Given the description of an element on the screen output the (x, y) to click on. 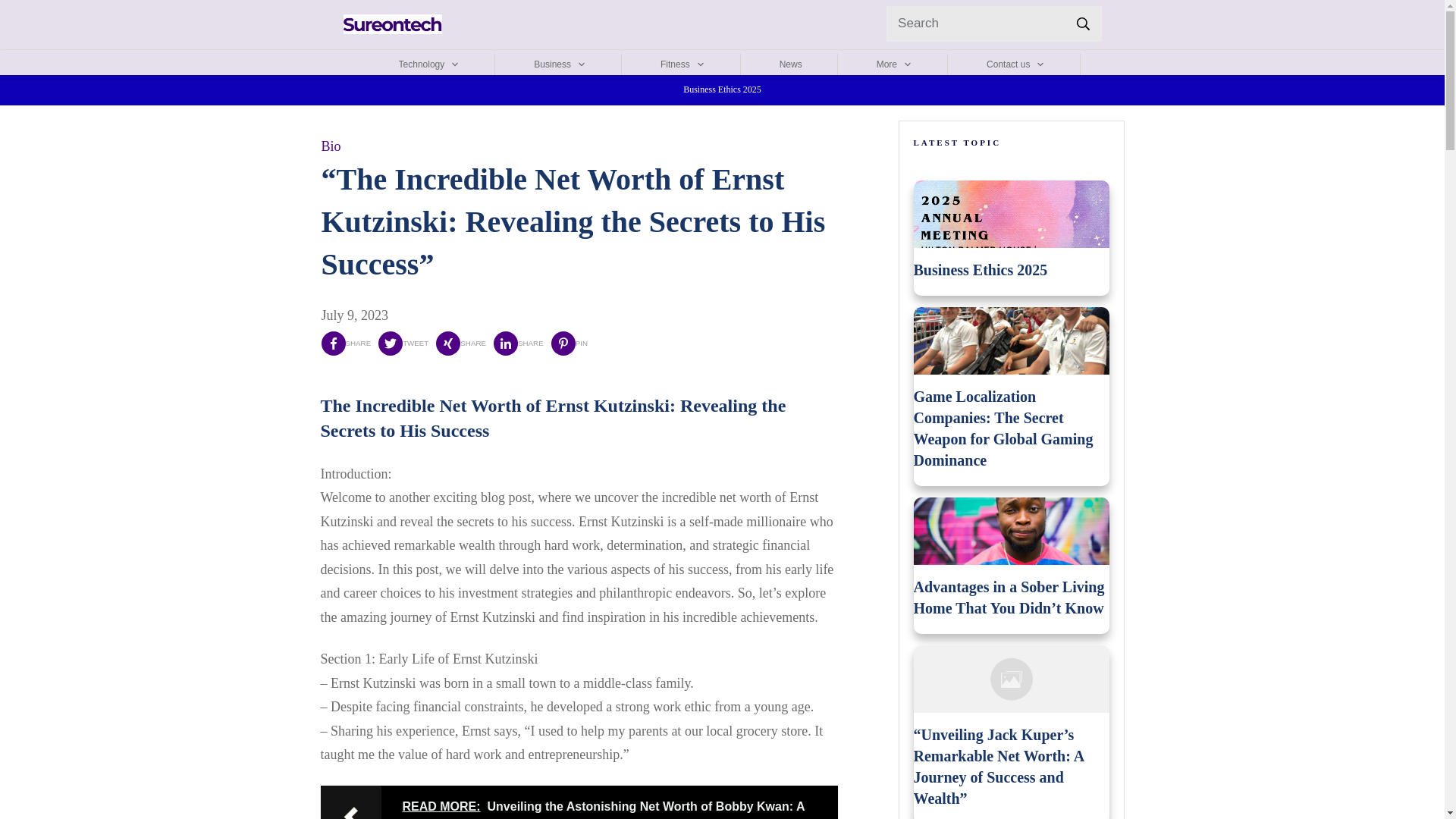
Technology (429, 64)
Bio (330, 145)
Business Ethics 2025 (721, 89)
Business Ethics 2025 (979, 269)
Business Ethics 2025 (721, 89)
Contact us (1016, 64)
SHARE (518, 343)
Fitness (682, 64)
More (894, 64)
SHARE (346, 343)
SHARE (460, 343)
PIN (569, 343)
Bio (330, 145)
